Given the description of an element on the screen output the (x, y) to click on. 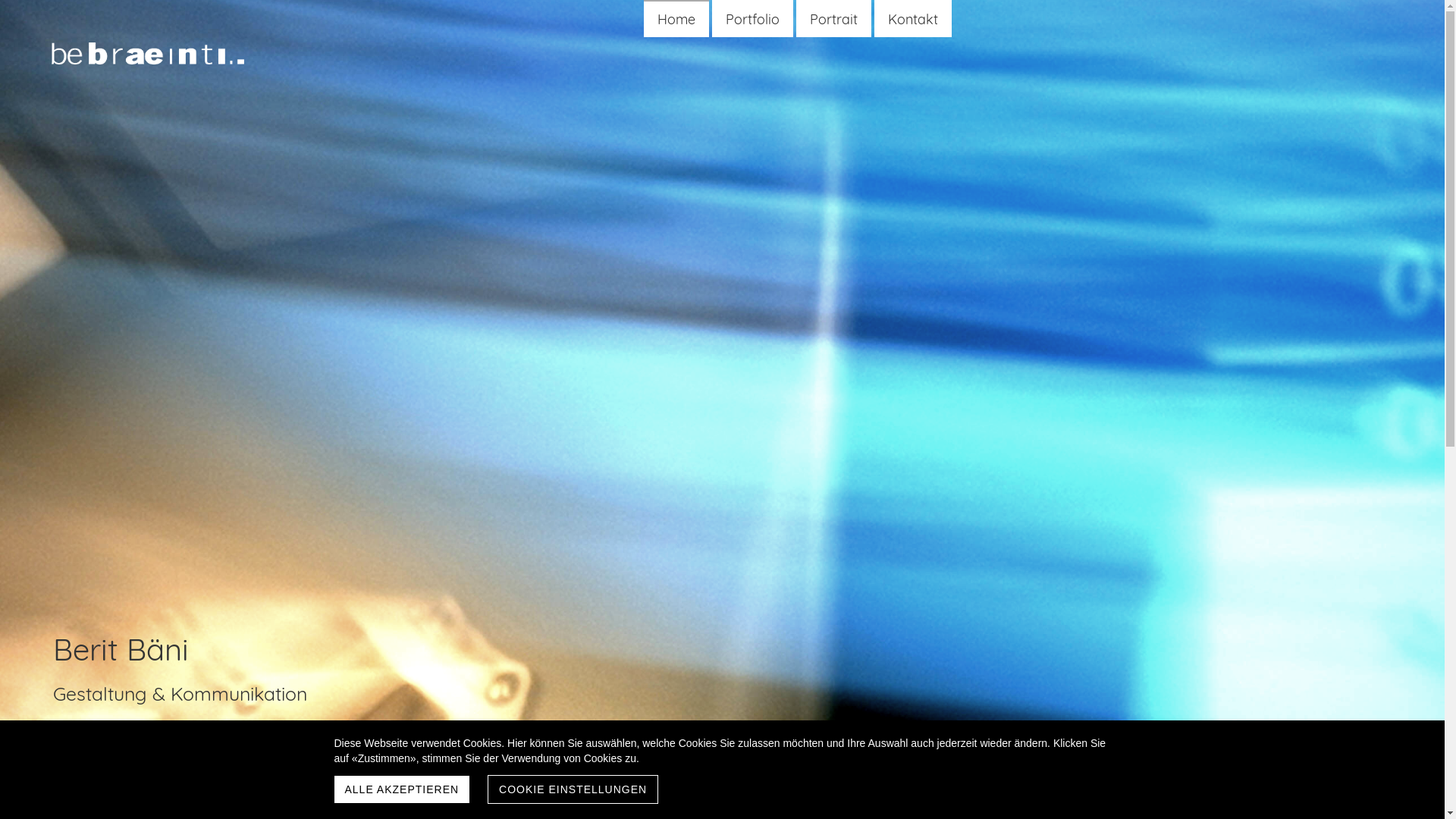
COOKIE EINSTELLUNGEN Element type: text (572, 789)
Portrait Element type: text (833, 19)
Portfolio Element type: text (752, 19)
ALLE AKZEPTIEREN Element type: text (401, 789)
Home Element type: text (676, 19)
Kontakt Element type: text (912, 19)
